Given the description of an element on the screen output the (x, y) to click on. 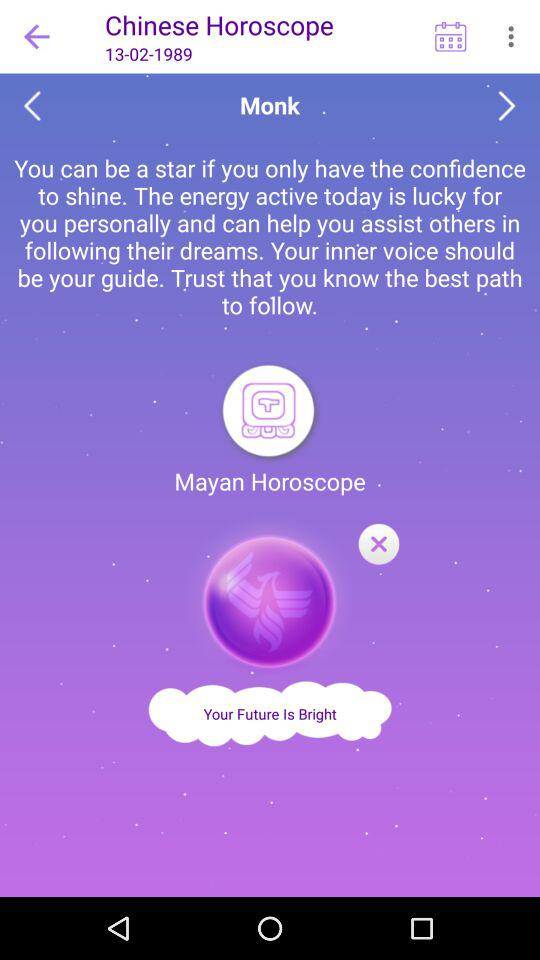
previous button (32, 106)
